Given the description of an element on the screen output the (x, y) to click on. 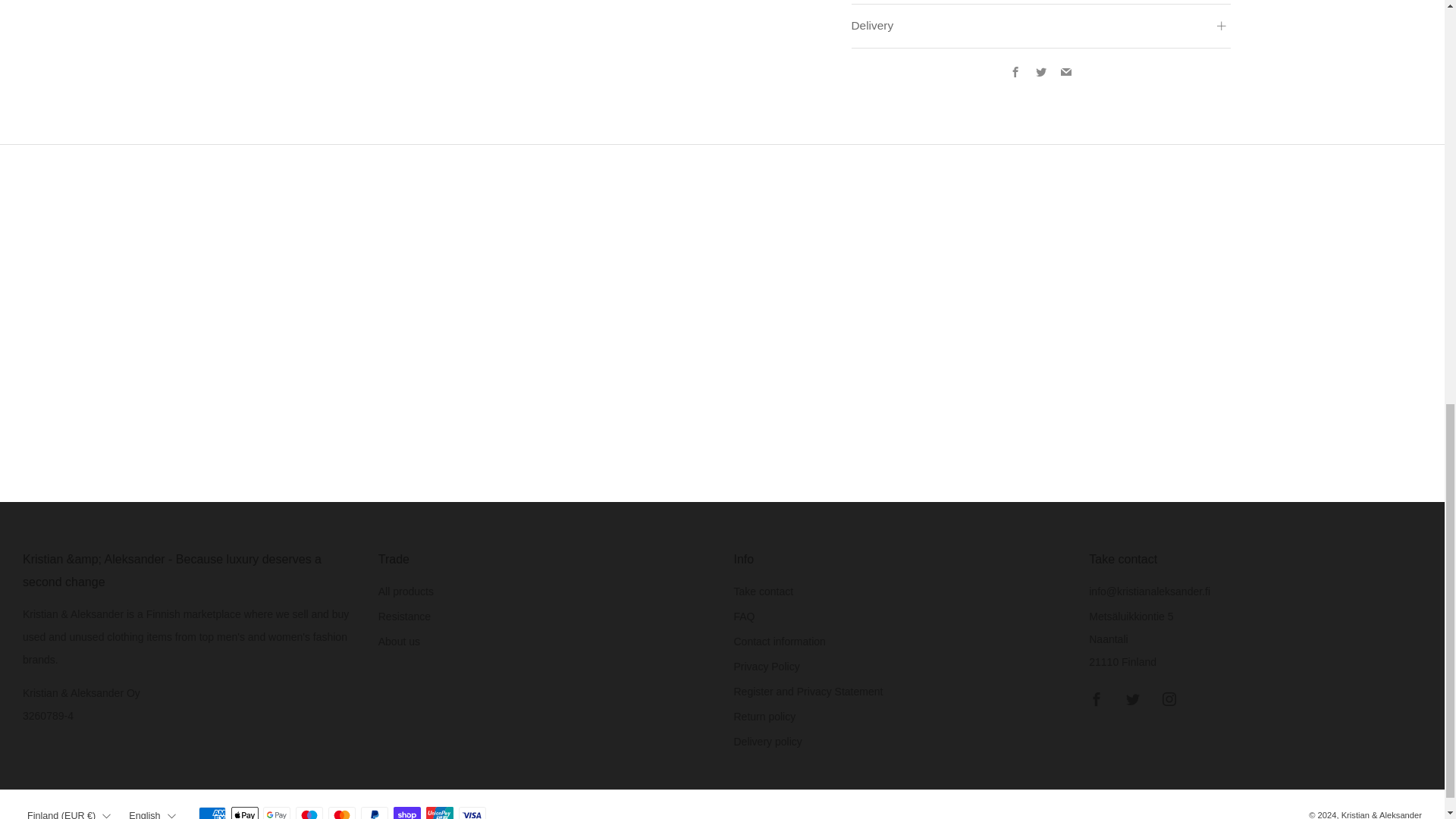
Apple Pay (243, 809)
Mastercard (342, 809)
PayPal (374, 809)
Shop Pay (406, 809)
Visa (472, 809)
Maestro (309, 809)
Union Pay (439, 809)
Google Pay (276, 809)
American Express (211, 809)
